Given the description of an element on the screen output the (x, y) to click on. 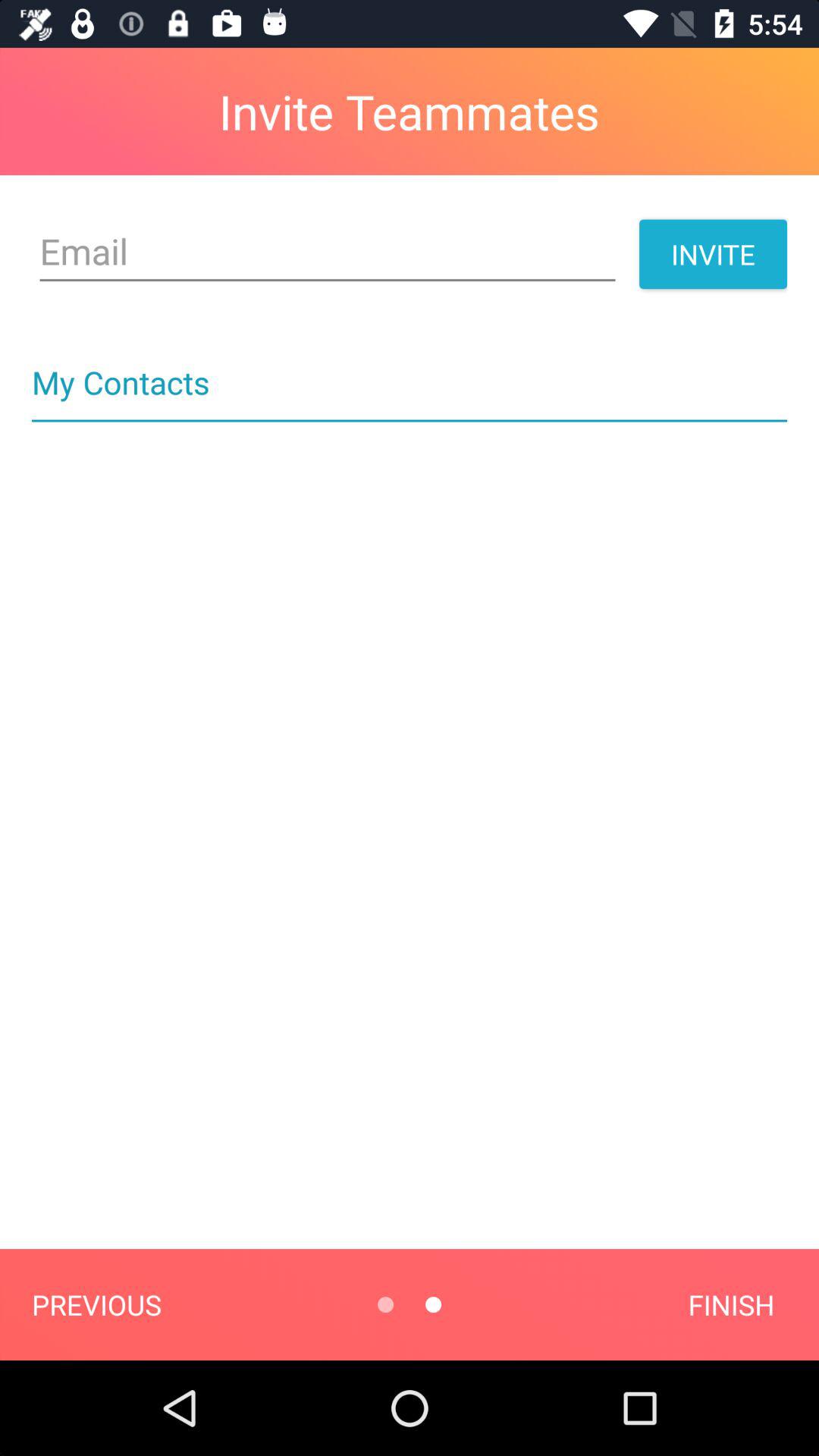
click the icon above the previous item (409, 420)
